Given the description of an element on the screen output the (x, y) to click on. 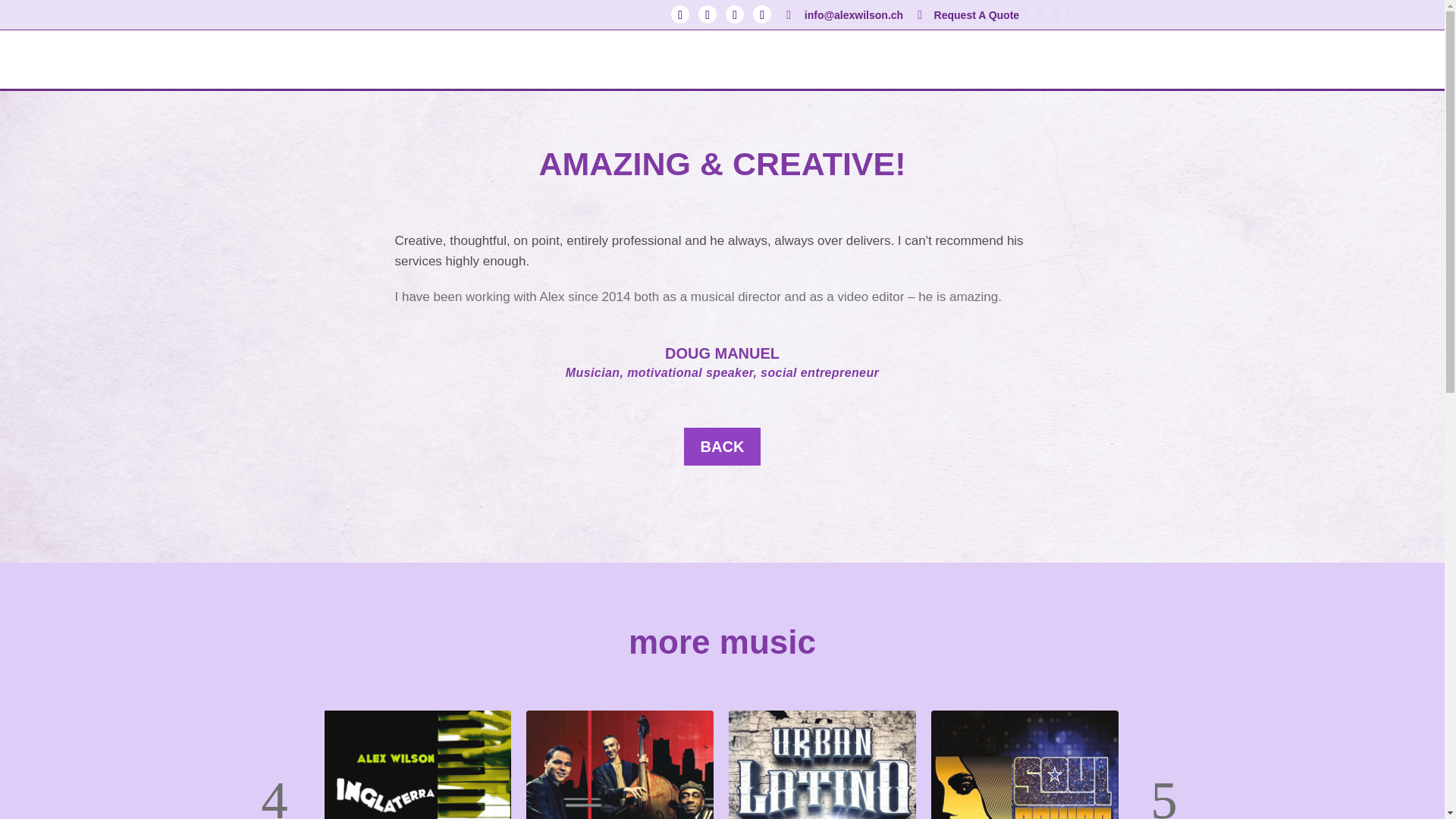
ABOUT (451, 70)
BACK (722, 446)
LIVE SHOWS (1031, 70)
SERVICES (531, 70)
Request A Quote (966, 18)
HOME (384, 70)
MUSIC (889, 70)
